Given the description of an element on the screen output the (x, y) to click on. 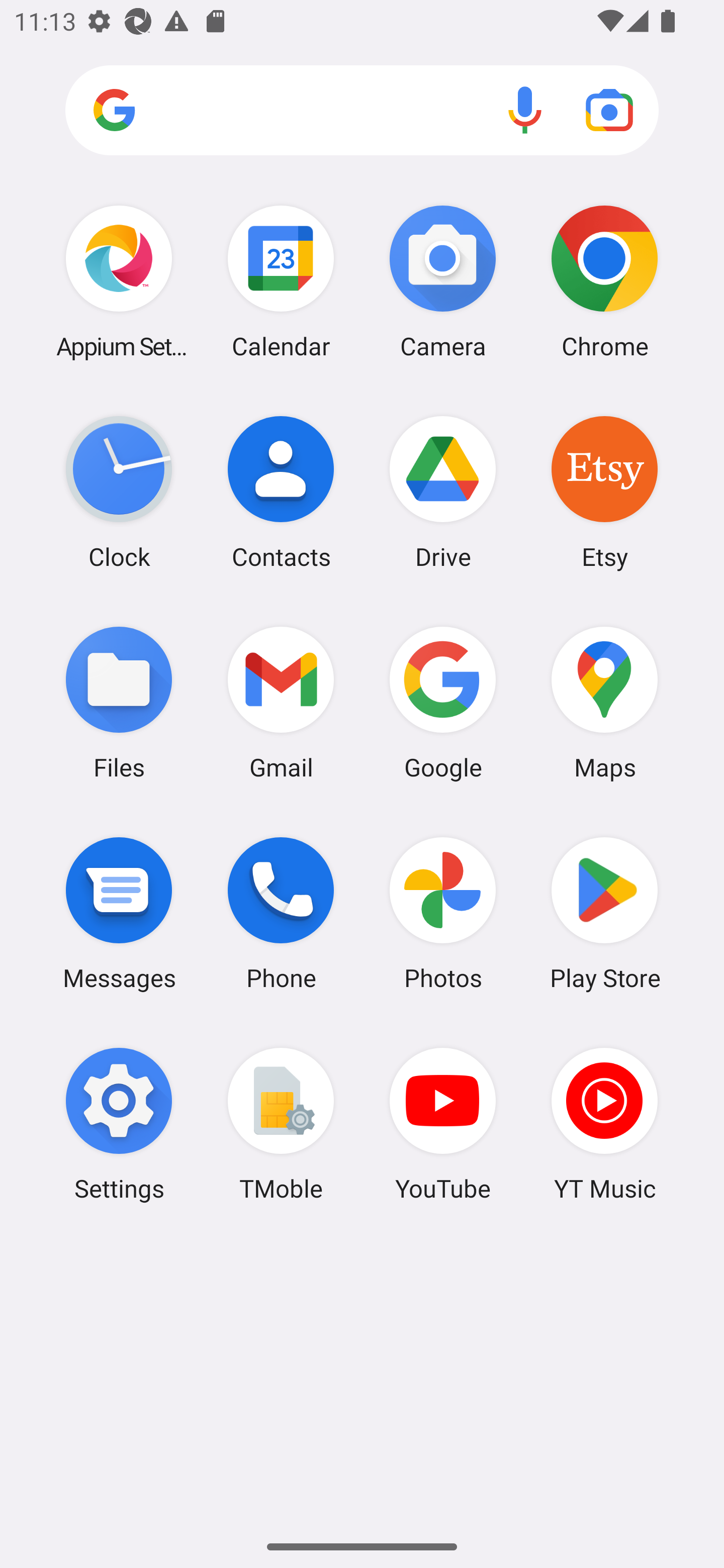
Search apps, web and more (361, 110)
Voice search (524, 109)
Google Lens (608, 109)
Appium Settings (118, 281)
Calendar (280, 281)
Camera (443, 281)
Chrome (604, 281)
Clock (118, 492)
Contacts (280, 492)
Drive (443, 492)
Etsy (604, 492)
Files (118, 702)
Gmail (280, 702)
Google (443, 702)
Maps (604, 702)
Messages (118, 913)
Phone (280, 913)
Photos (443, 913)
Play Store (604, 913)
Settings (118, 1124)
TMoble (280, 1124)
YouTube (443, 1124)
YT Music (604, 1124)
